Given the description of an element on the screen output the (x, y) to click on. 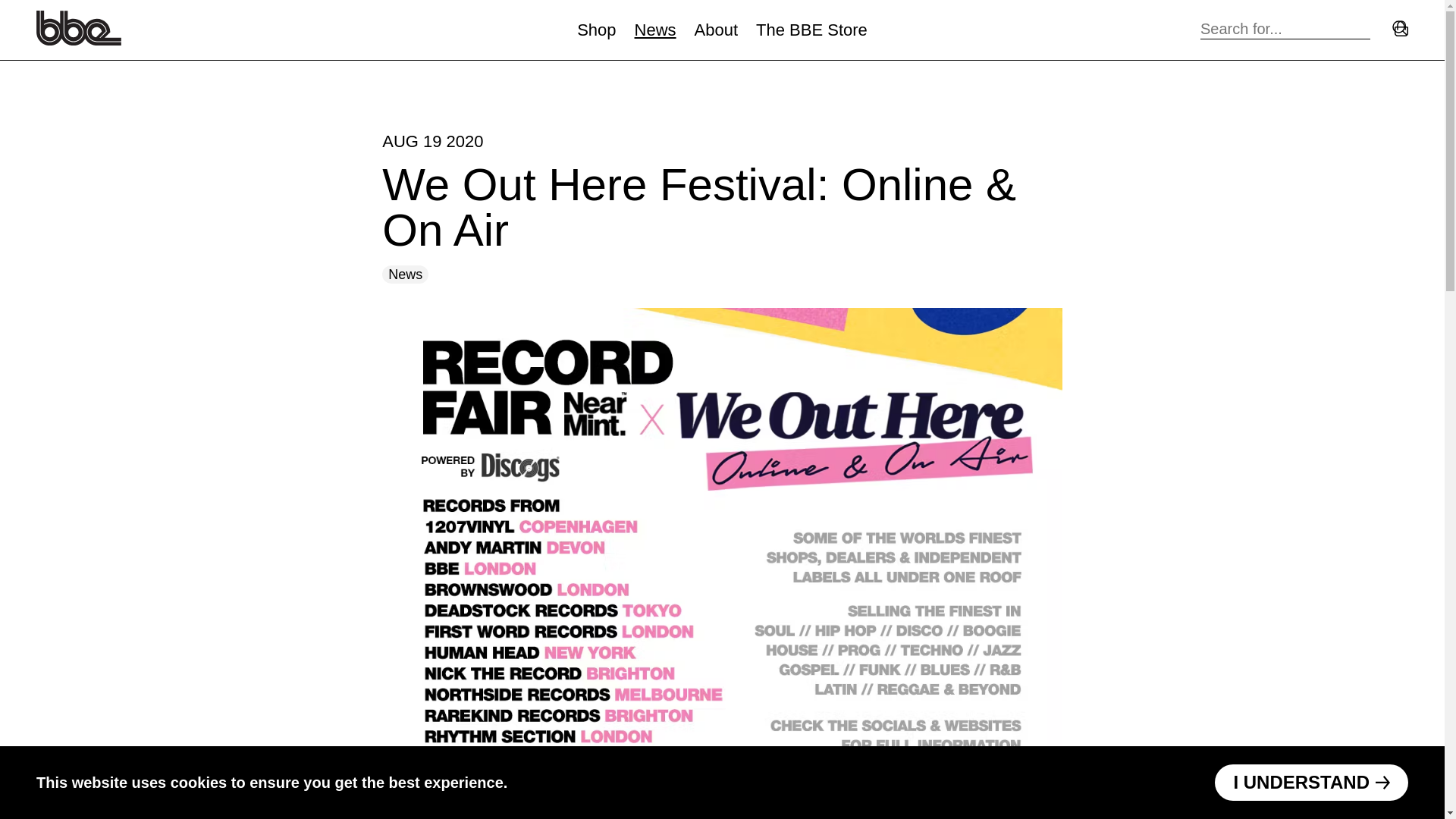
The BBE Store (811, 29)
News (655, 29)
About (716, 29)
Shop (595, 29)
